Given the description of an element on the screen output the (x, y) to click on. 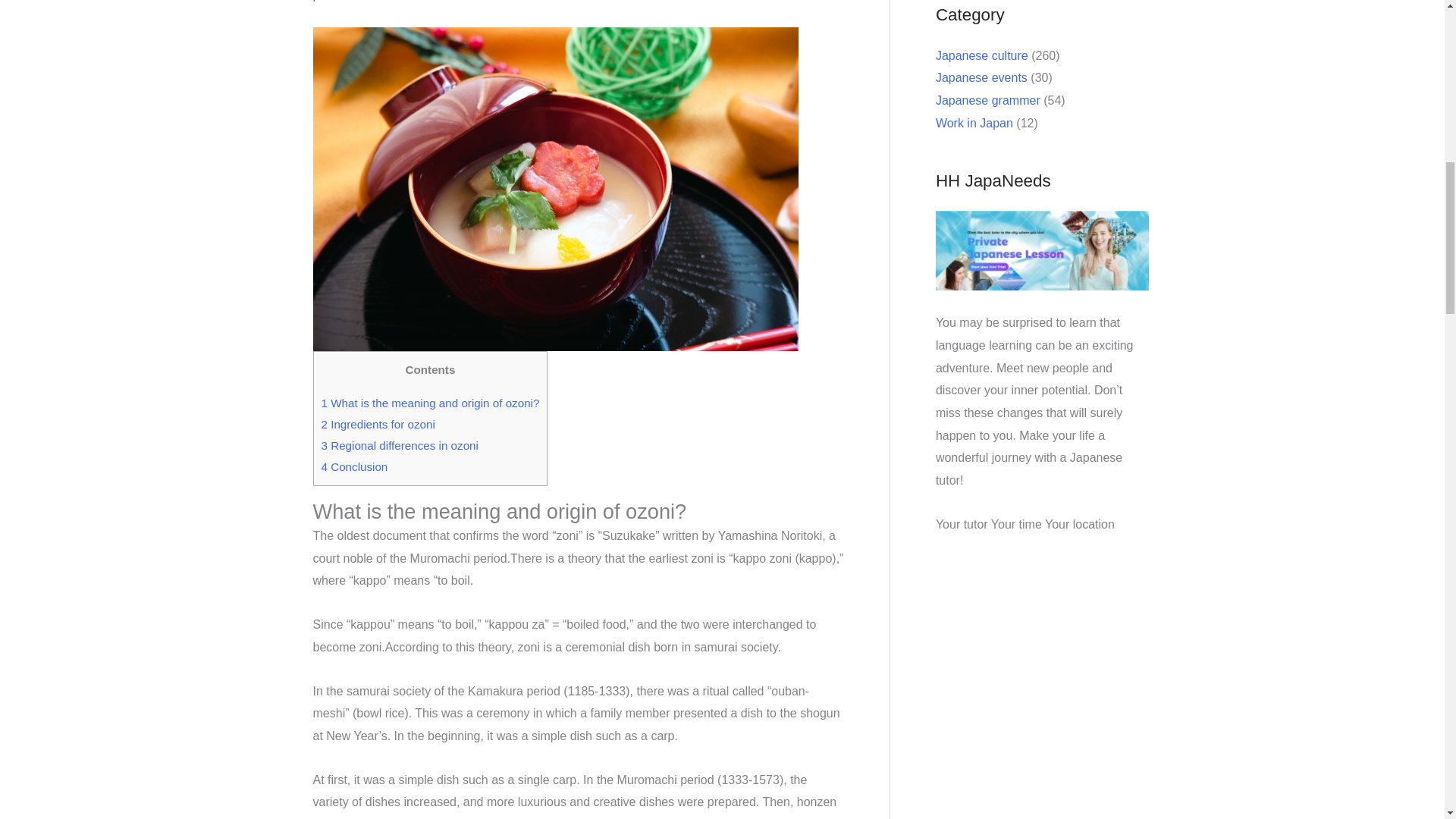
1 What is the meaning and origin of ozoni? (430, 402)
4 Conclusion (354, 466)
2 Ingredients for ozoni (378, 423)
3 Regional differences in ozoni (400, 445)
